Given the description of an element on the screen output the (x, y) to click on. 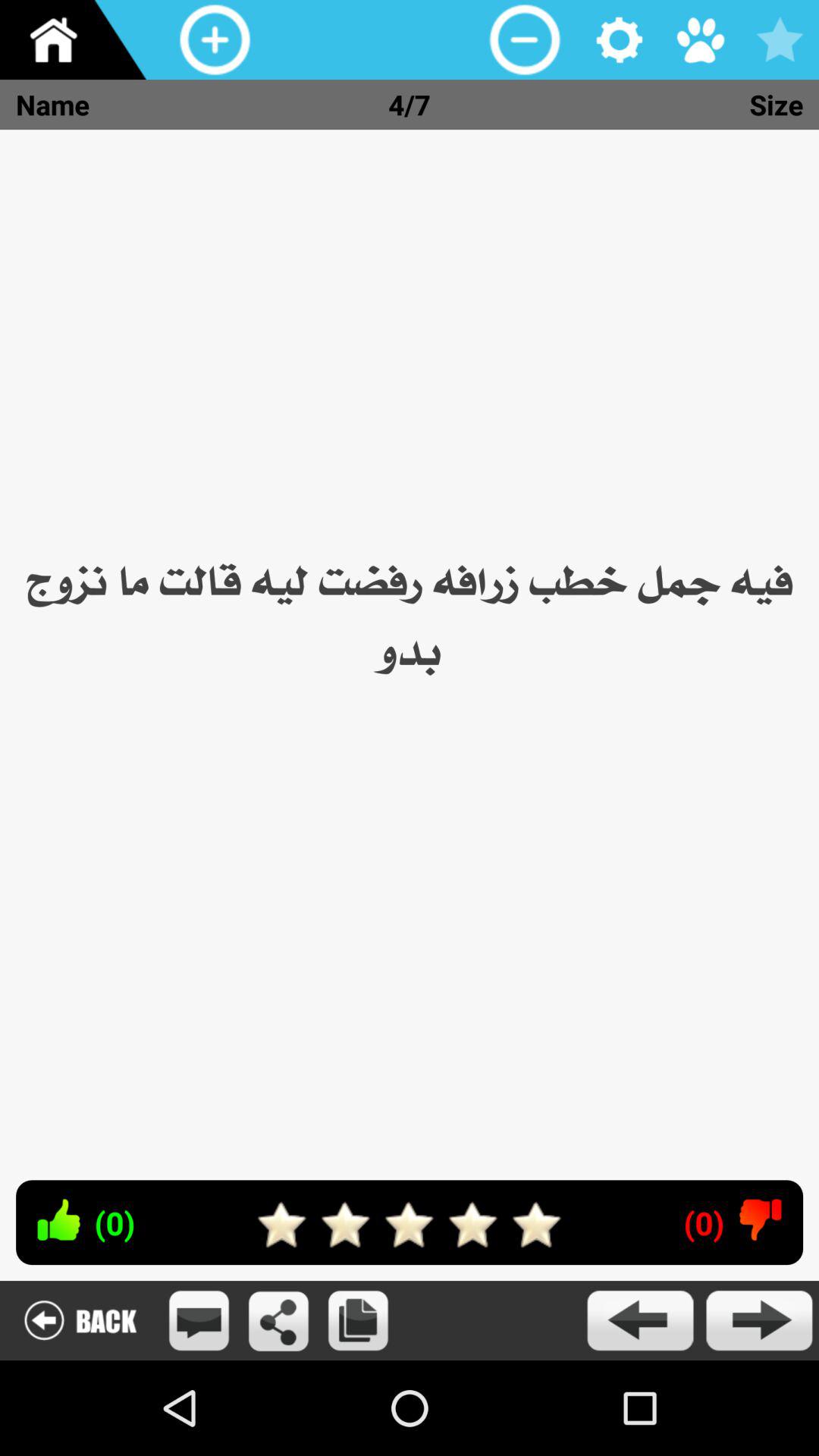
add comment (198, 1320)
